Given the description of an element on the screen output the (x, y) to click on. 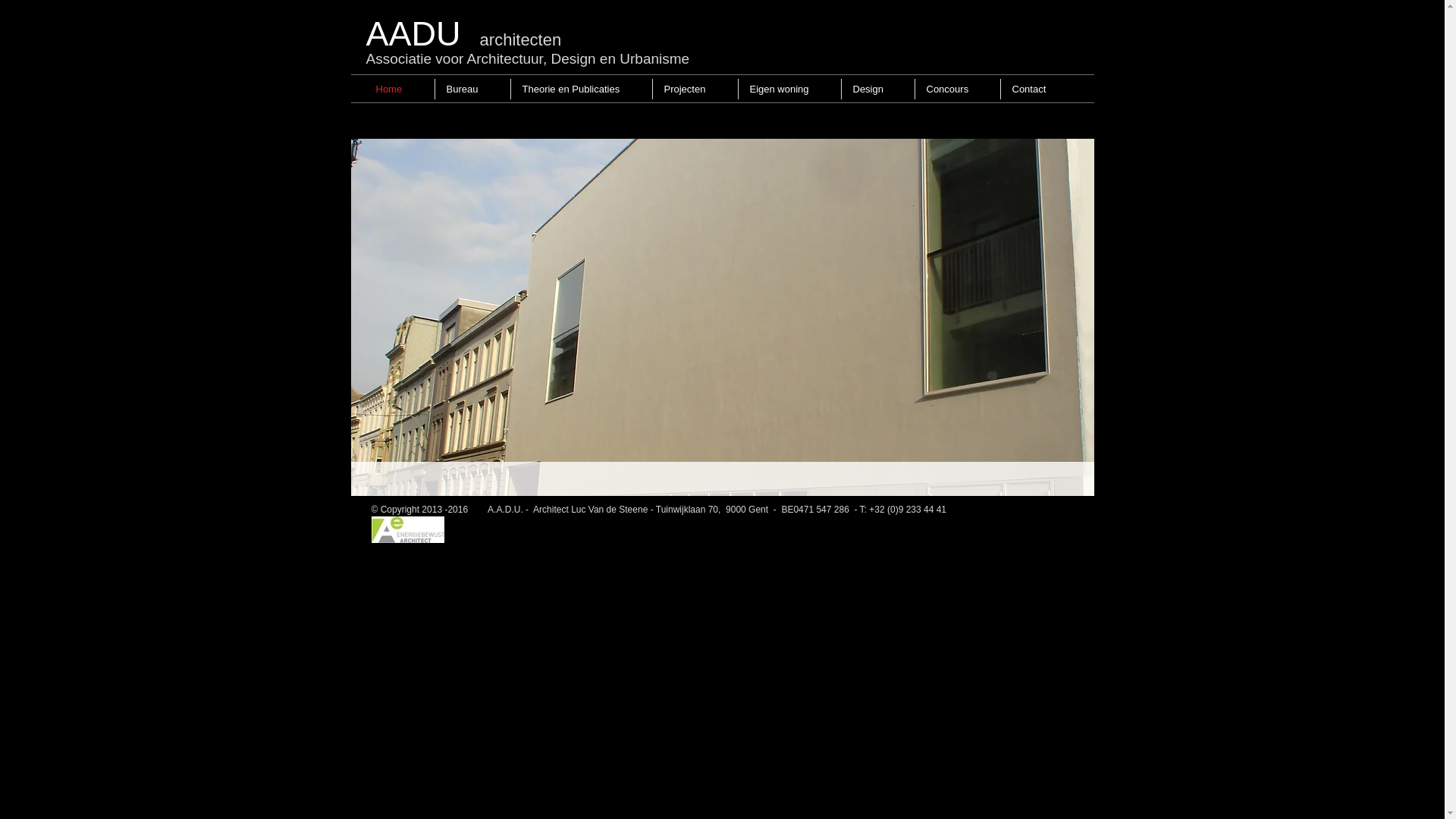
Theorie en Publicaties Element type: text (581, 88)
Design Element type: text (877, 88)
Eigen woning Element type: text (789, 88)
 AADU  architecten Element type: text (459, 39)
Contact Element type: text (1039, 88)
Bureau Element type: text (472, 88)
Home Element type: text (398, 88)
Projecten Element type: text (694, 88)
Concours Element type: text (956, 88)
